Given the description of an element on the screen output the (x, y) to click on. 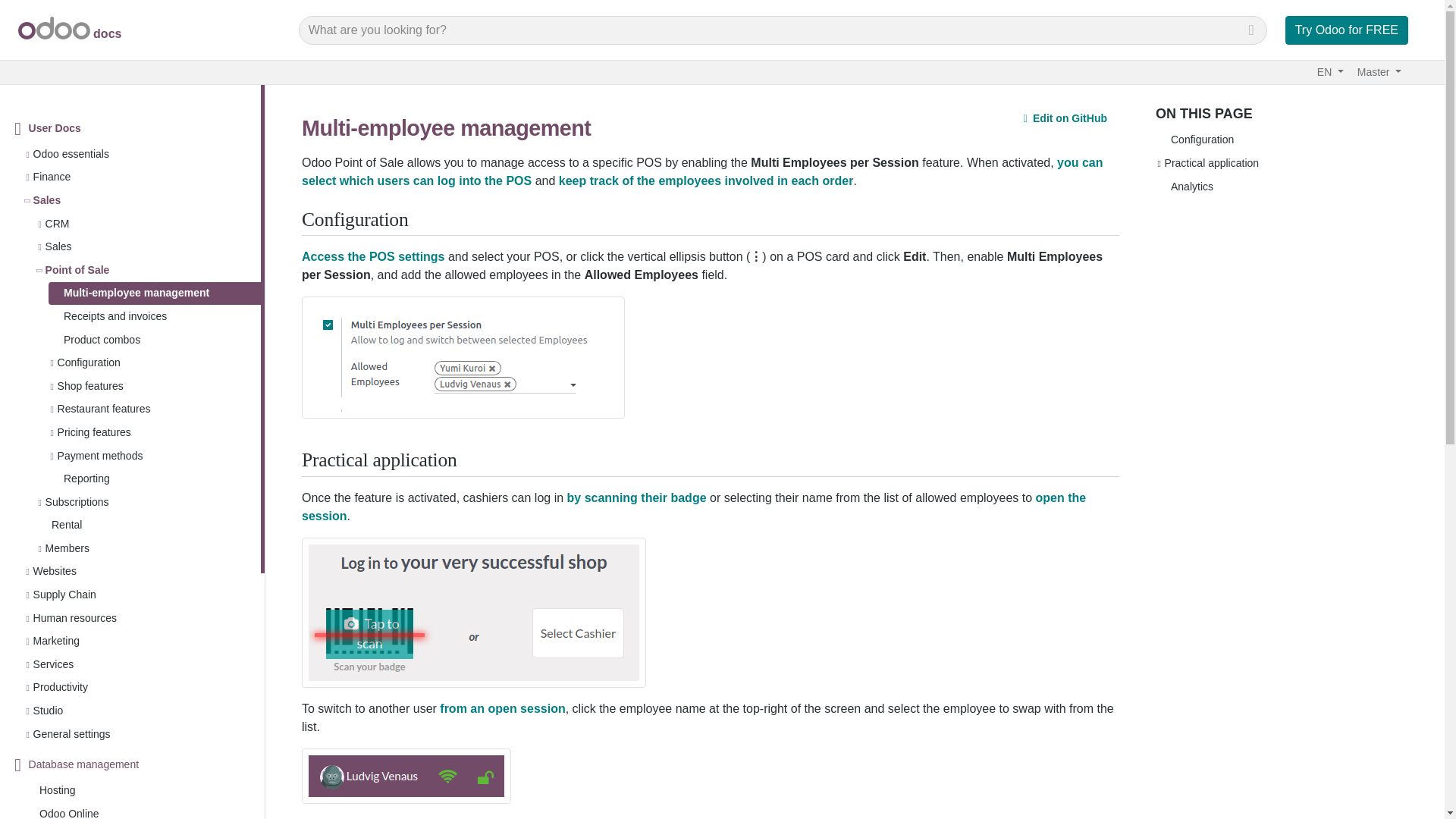
Odoo essentials (71, 154)
Finance (51, 177)
User Docs (54, 128)
